Given the description of an element on the screen output the (x, y) to click on. 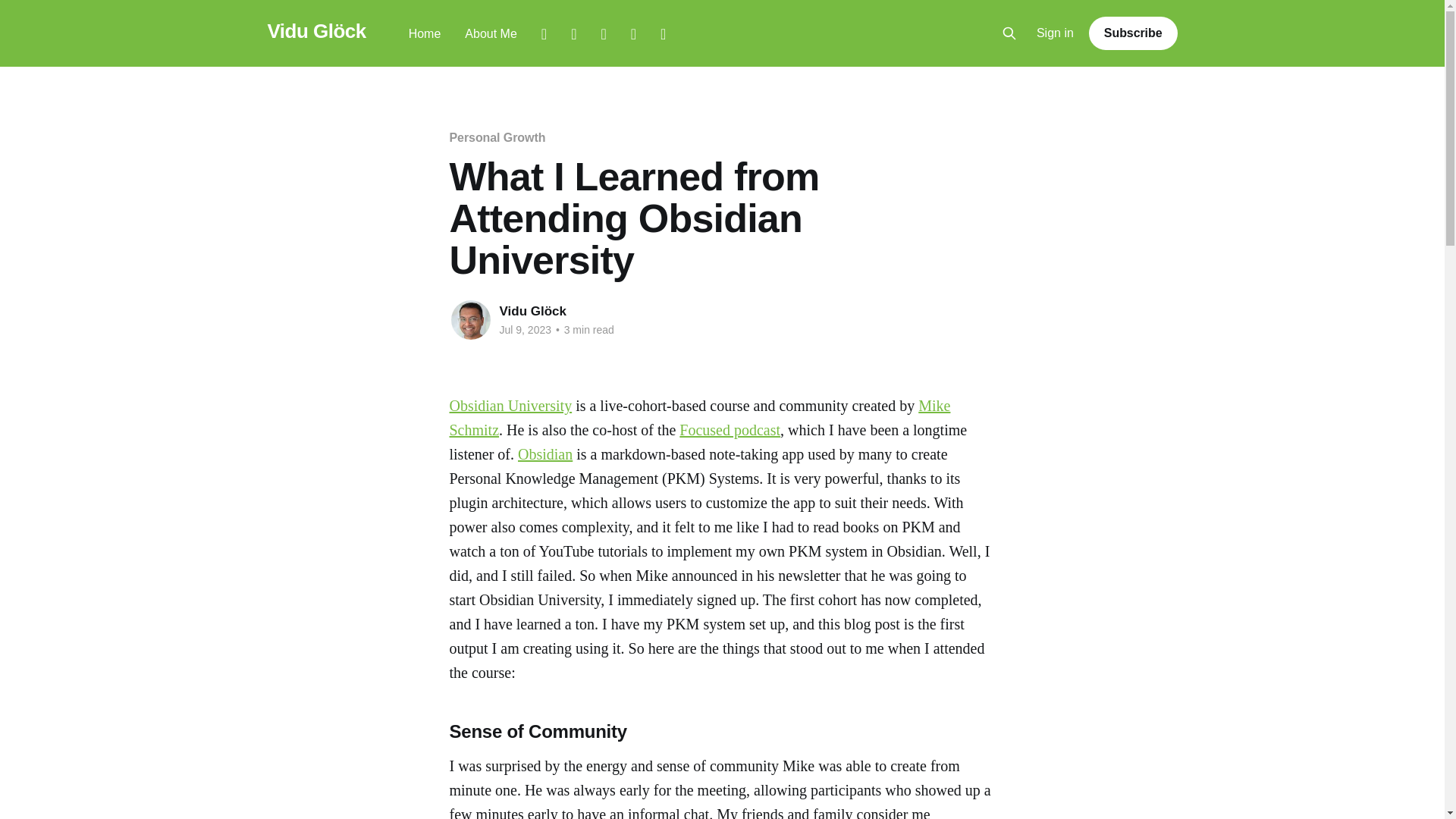
Sign in (1055, 33)
Mike Schmitz (699, 417)
Focused podcast (729, 429)
Personal Growth (496, 137)
Home (425, 33)
Obsidian University (510, 405)
Obsidian (545, 453)
About Me (490, 33)
Subscribe (1133, 32)
